Given the description of an element on the screen output the (x, y) to click on. 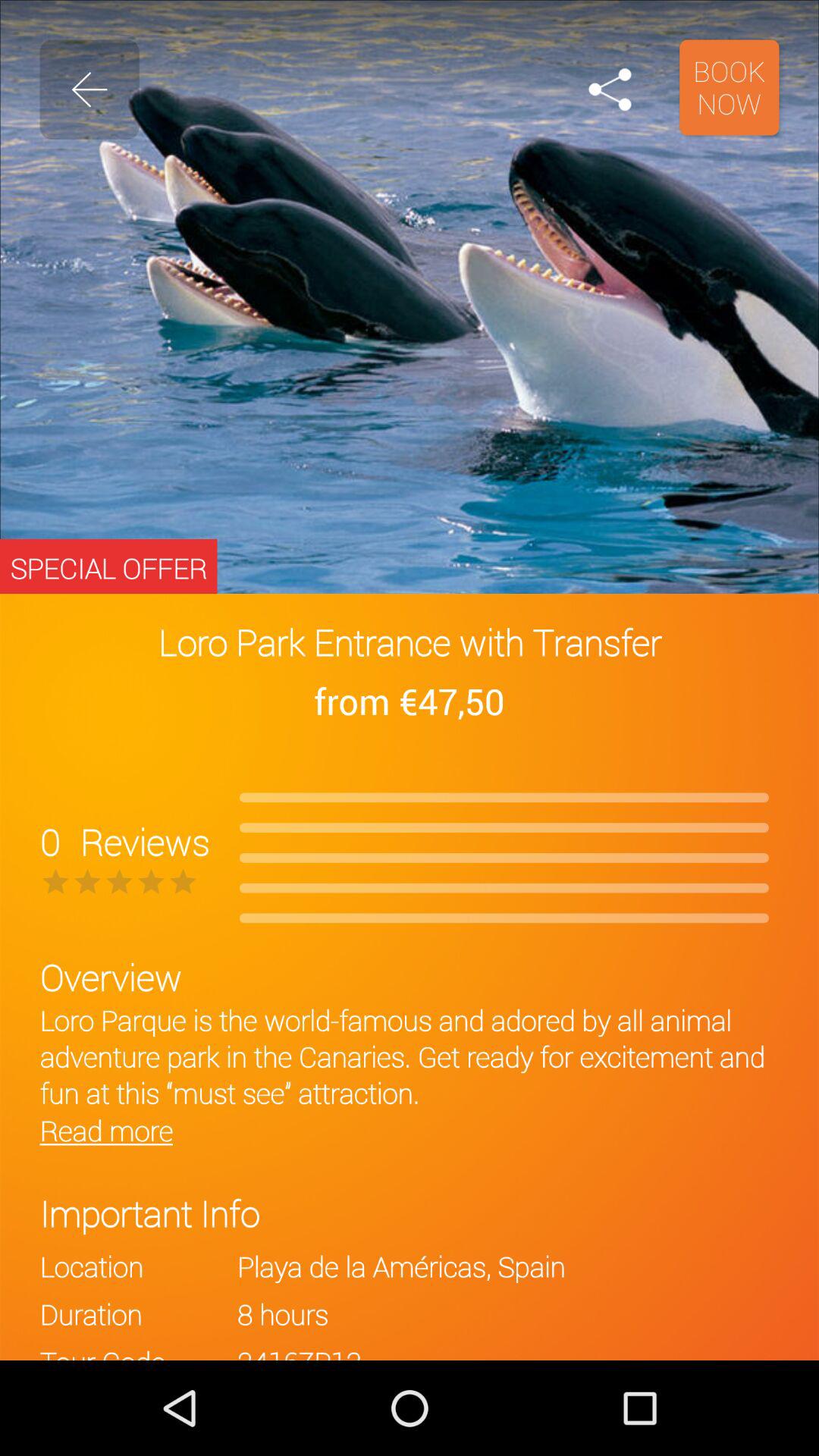
swipe until book now (729, 87)
